Given the description of an element on the screen output the (x, y) to click on. 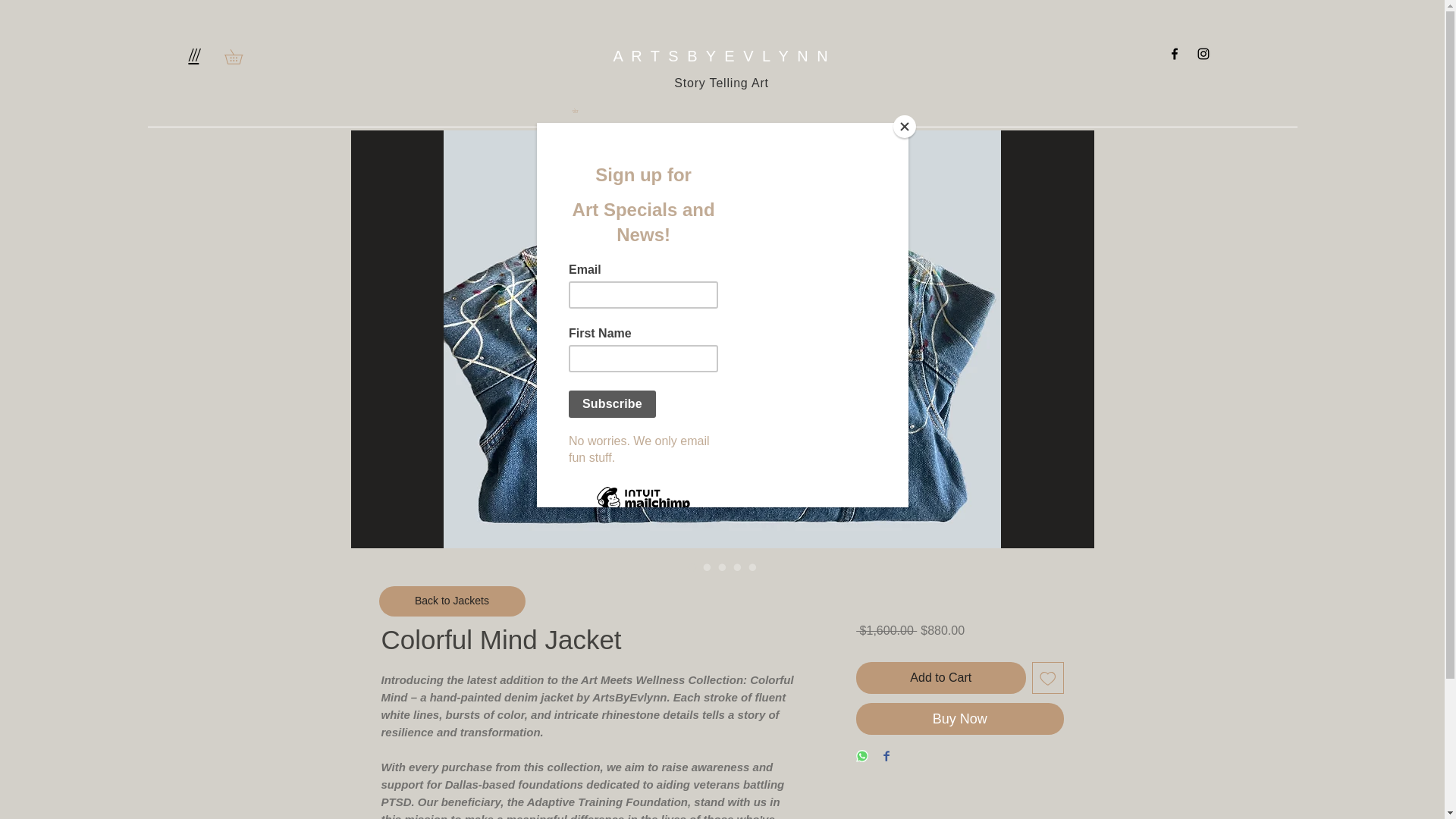
Back to Jackets (451, 601)
Buy Now (959, 718)
Story Telling Art (721, 82)
Add to Cart (940, 677)
